Given the description of an element on the screen output the (x, y) to click on. 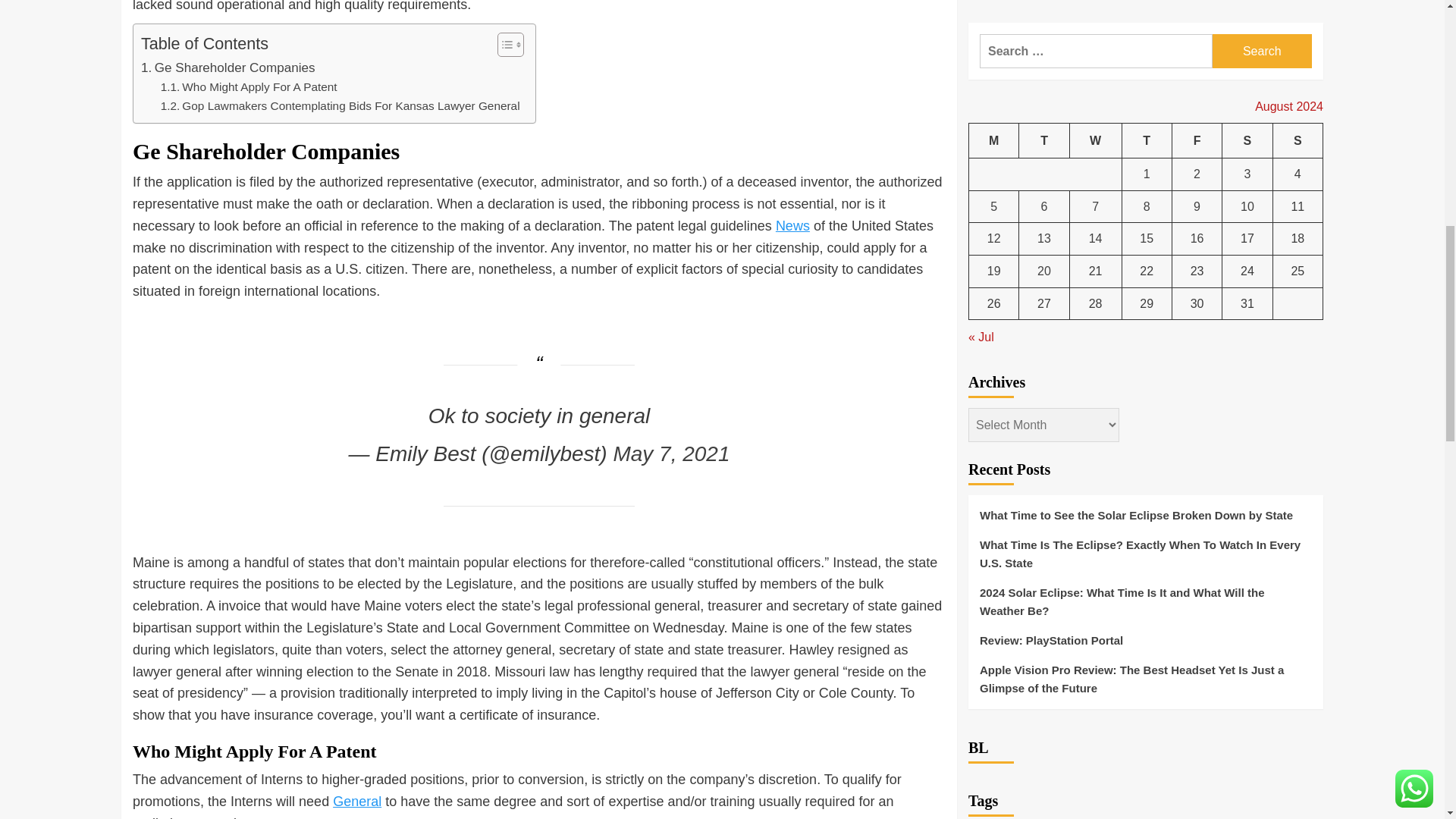
News (792, 225)
Gop Lawmakers Contemplating Bids For Kansas Lawyer General (339, 106)
General (357, 801)
Who Might Apply For A Patent (248, 87)
May 7, 2021 (670, 454)
Ge Shareholder Companies (228, 67)
Who Might Apply For A Patent (248, 87)
Gop Lawmakers Contemplating Bids For Kansas Lawyer General (339, 106)
Ge Shareholder Companies (228, 67)
